Given the description of an element on the screen output the (x, y) to click on. 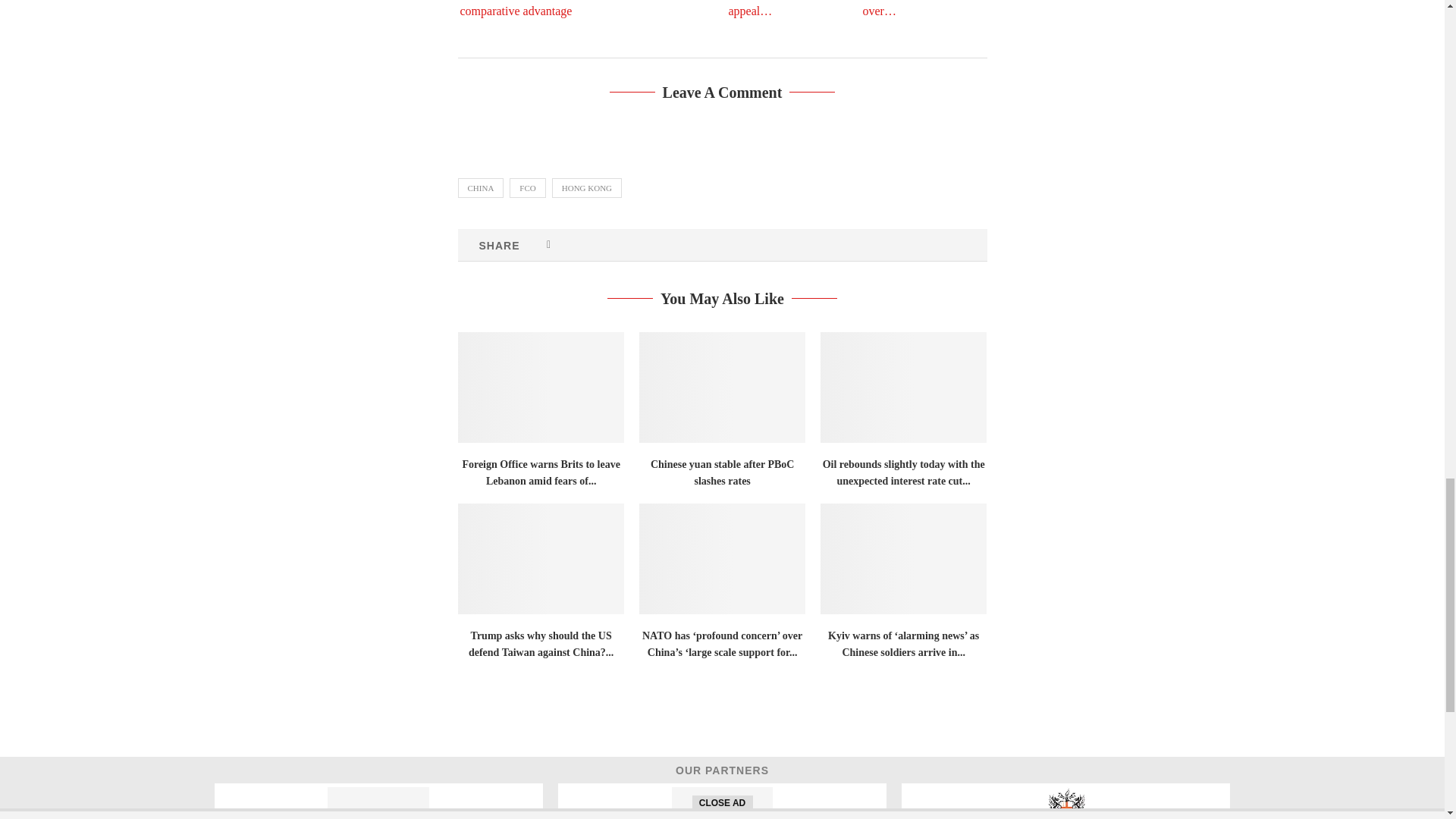
Chinese yuan stable after PBoC slashes rates (722, 387)
